Given the description of an element on the screen output the (x, y) to click on. 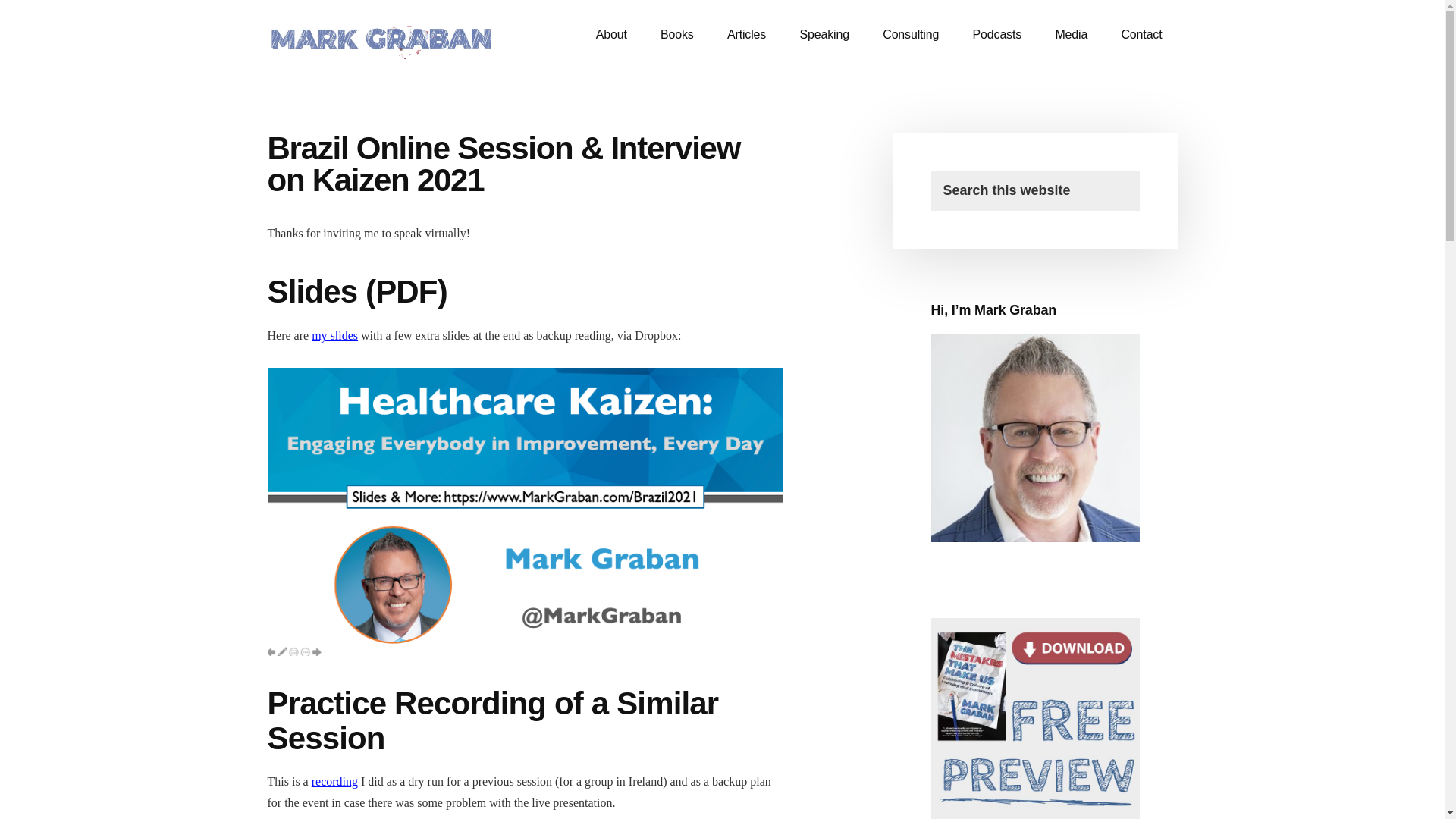
About (611, 34)
Books (677, 34)
Speaking (823, 34)
Articles (745, 34)
Podcasts (997, 34)
Consulting (910, 34)
